Given the description of an element on the screen output the (x, y) to click on. 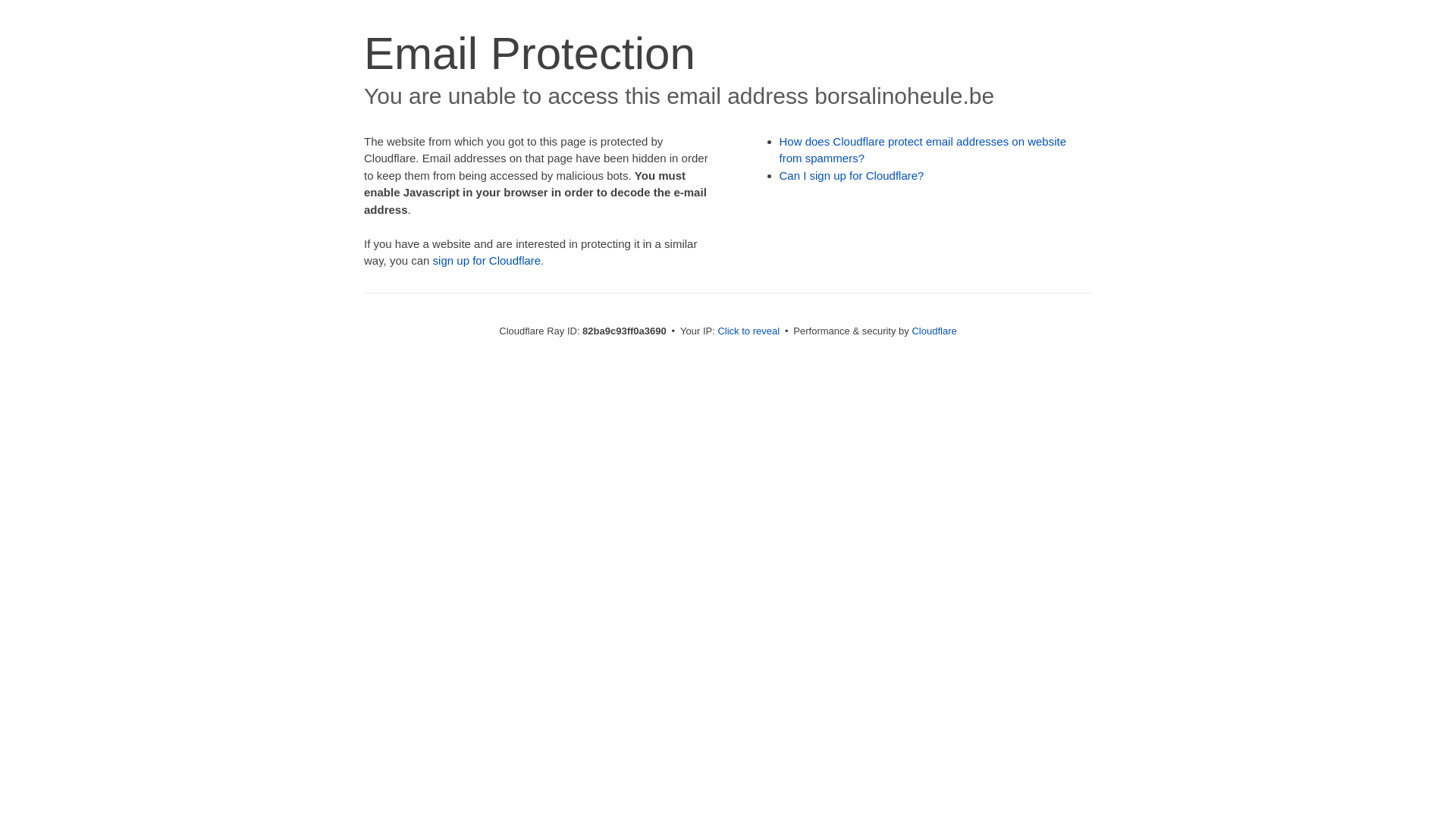
Can I sign up for Cloudflare? Element type: text (851, 175)
Click to reveal Element type: text (748, 330)
sign up for Cloudflare Element type: text (487, 260)
Cloudflare Element type: text (933, 330)
